Given the description of an element on the screen output the (x, y) to click on. 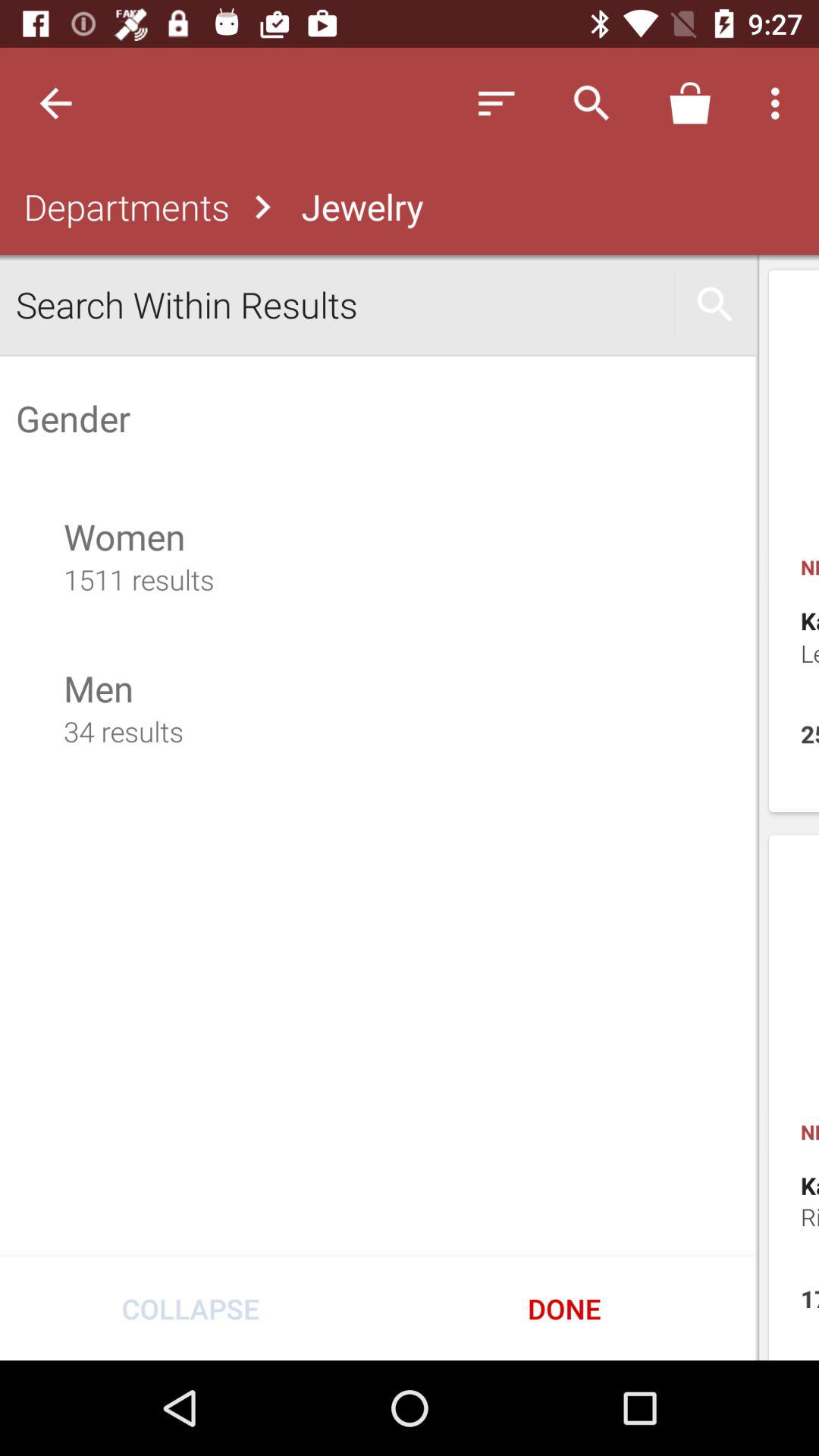
choose the collapse (190, 1308)
